Given the description of an element on the screen output the (x, y) to click on. 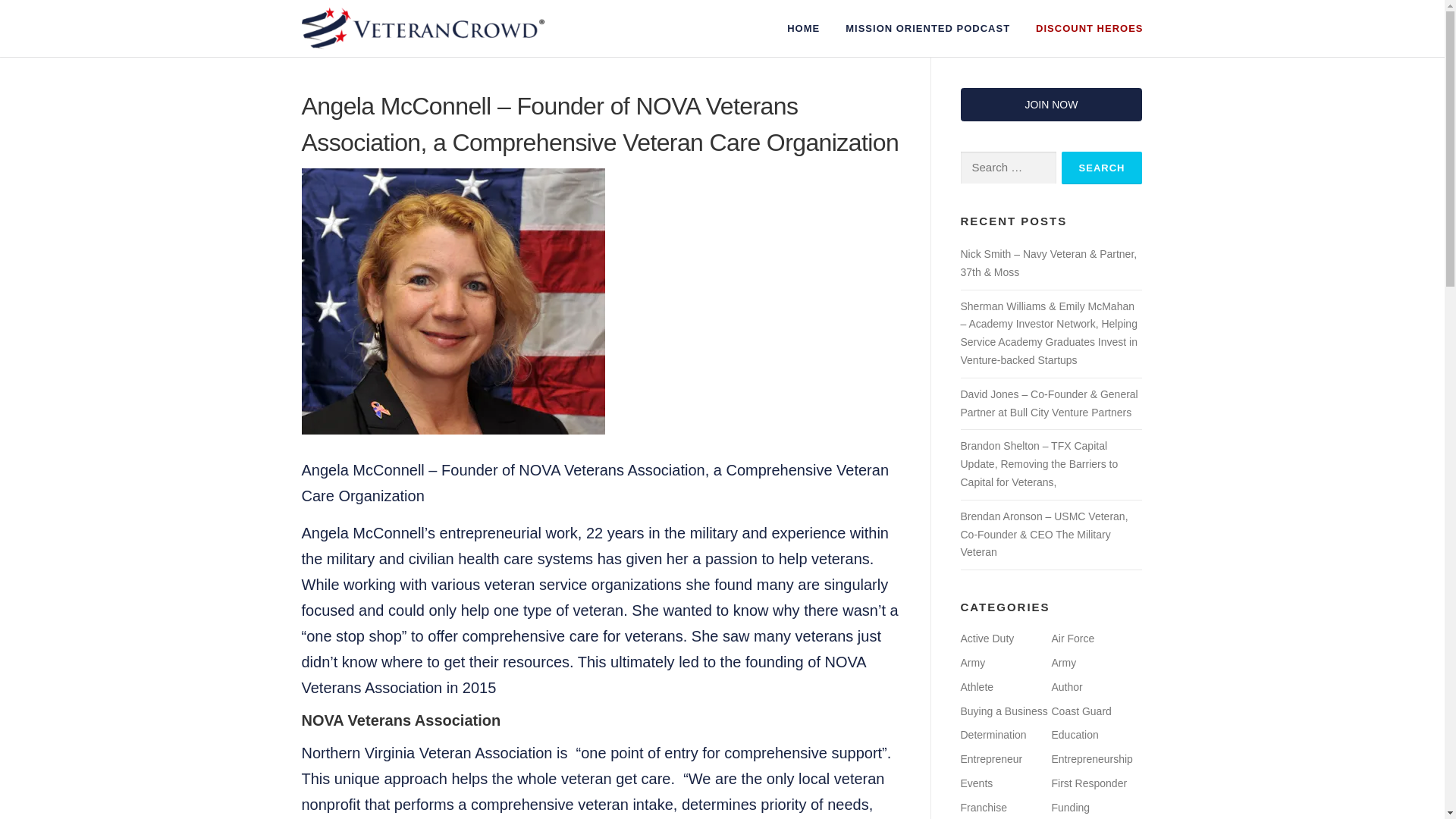
Franchise (982, 807)
DISCOUNT HEROES (1082, 28)
Funding (1070, 807)
Search (1101, 167)
Search (1101, 167)
Air Force (1072, 638)
Education (1074, 734)
Author (1066, 686)
Events (975, 783)
Athlete (975, 686)
